Given the description of an element on the screen output the (x, y) to click on. 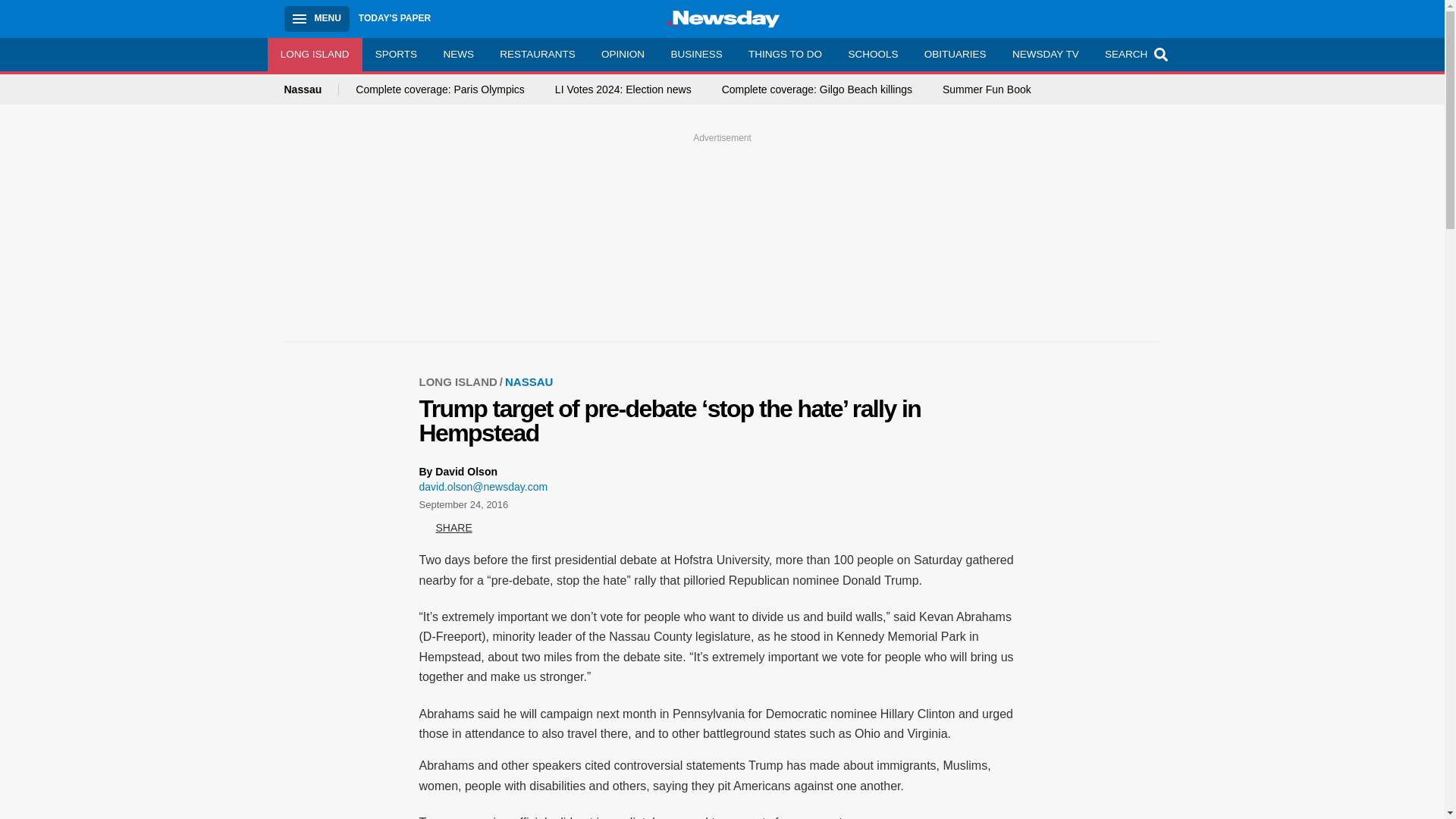
RESTAURANTS (537, 54)
THINGS TO DO (784, 54)
SHARE (445, 528)
Complete coverage: Paris Olympics (439, 89)
Nassau (311, 89)
SPORTS (396, 54)
BUSINESS (696, 54)
OPINION (623, 54)
NEWSDAY TV (1045, 54)
NEWS (457, 54)
